Given the description of an element on the screen output the (x, y) to click on. 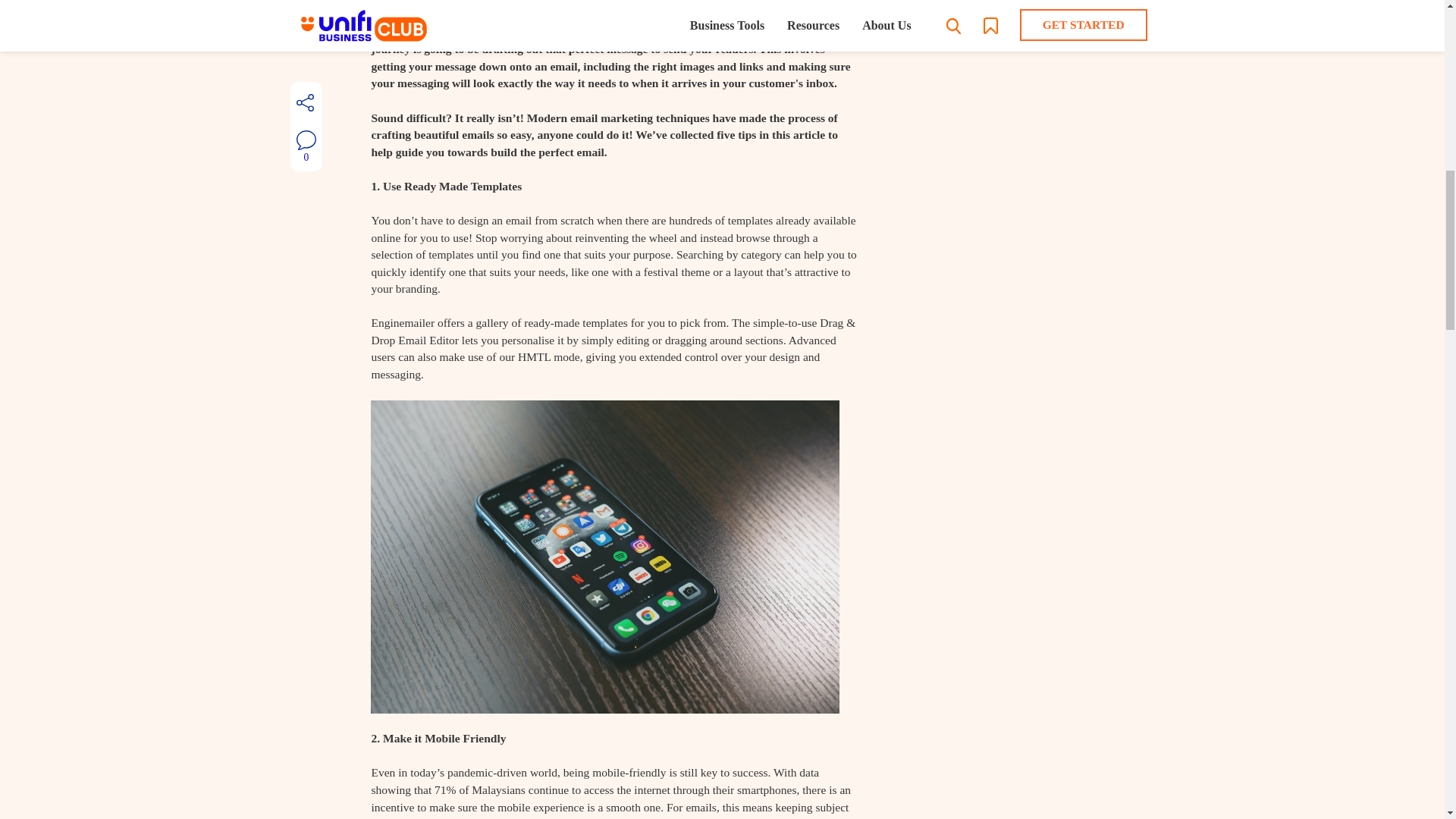
ready-made templates (575, 322)
